Given the description of an element on the screen output the (x, y) to click on. 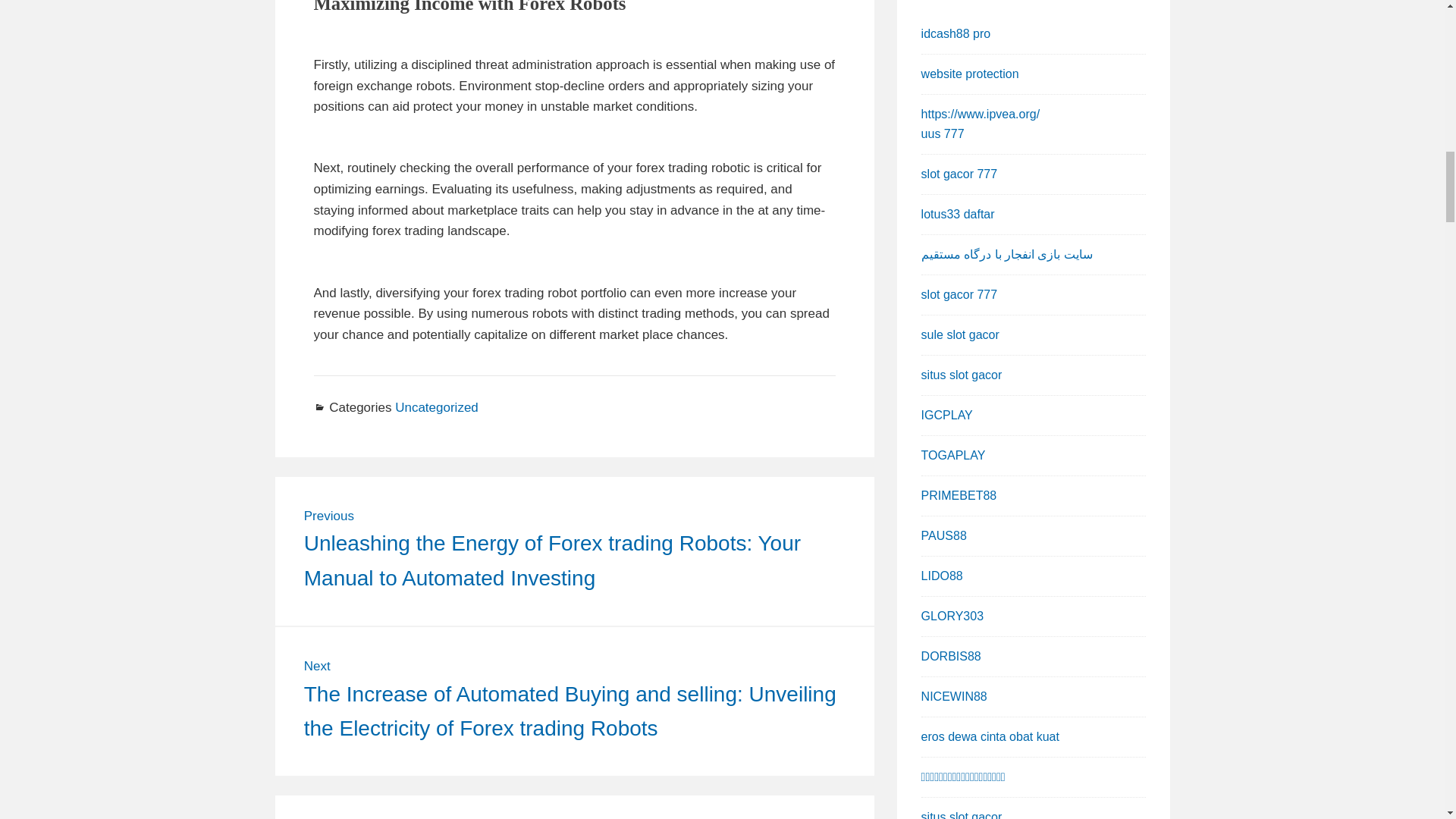
Uncategorized (436, 407)
